Given the description of an element on the screen output the (x, y) to click on. 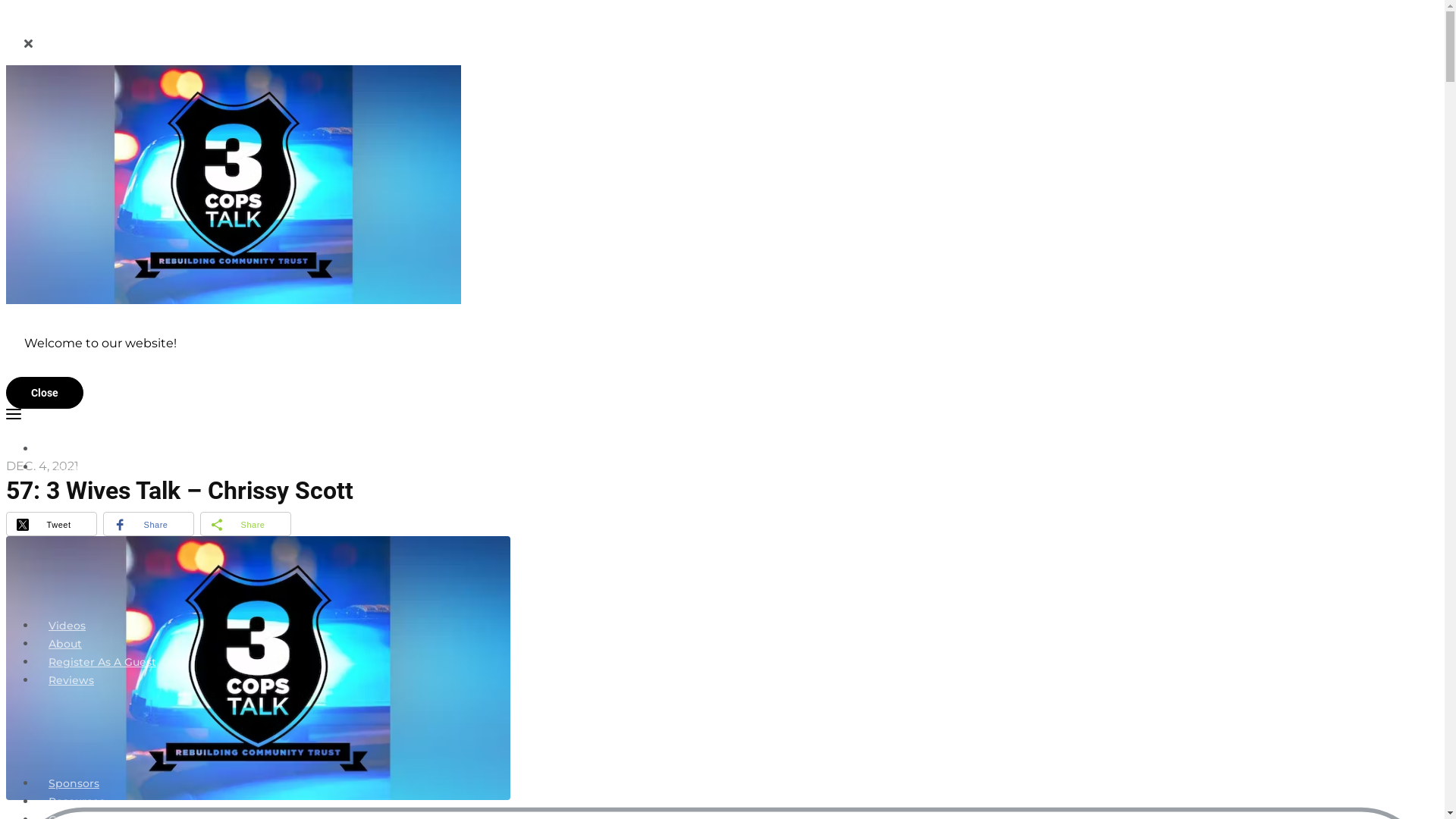
Register As A Guest Element type: text (102, 661)
Episodes Element type: text (72, 467)
About Element type: text (65, 643)
Videos Element type: text (66, 625)
Sponsors Element type: text (73, 783)
Reviews Element type: text (71, 680)
Close Element type: text (44, 392)
3 Cops Talk - Rebuilding Community Trust Element type: hover (233, 184)
Home Element type: text (65, 448)
